Given the description of an element on the screen output the (x, y) to click on. 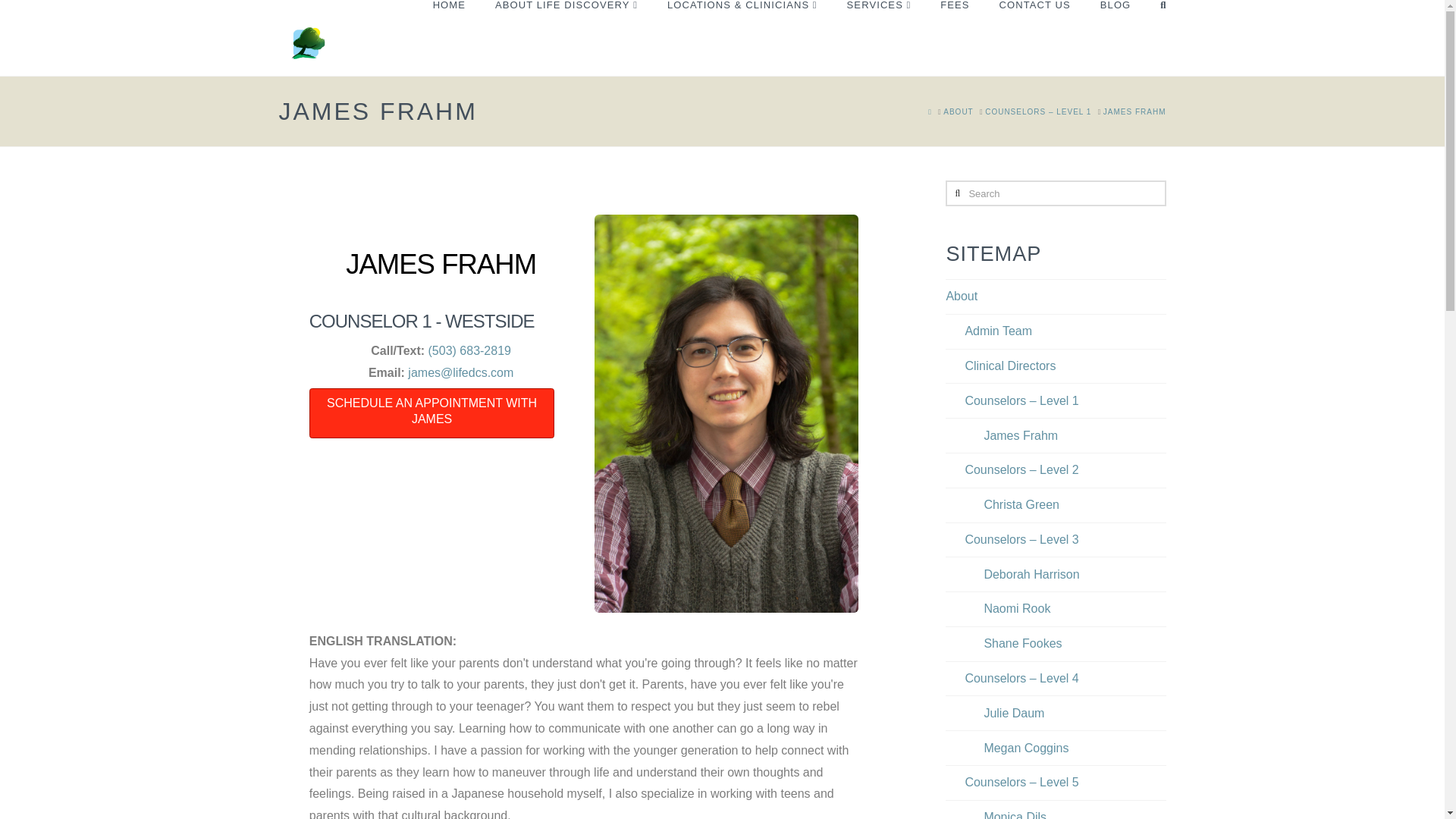
CONTACT US (1034, 38)
ABOUT LIFE DISCOVERY (566, 38)
Click to Schedule (431, 413)
You Are Here (1134, 111)
SERVICES (878, 38)
